Given the description of an element on the screen output the (x, y) to click on. 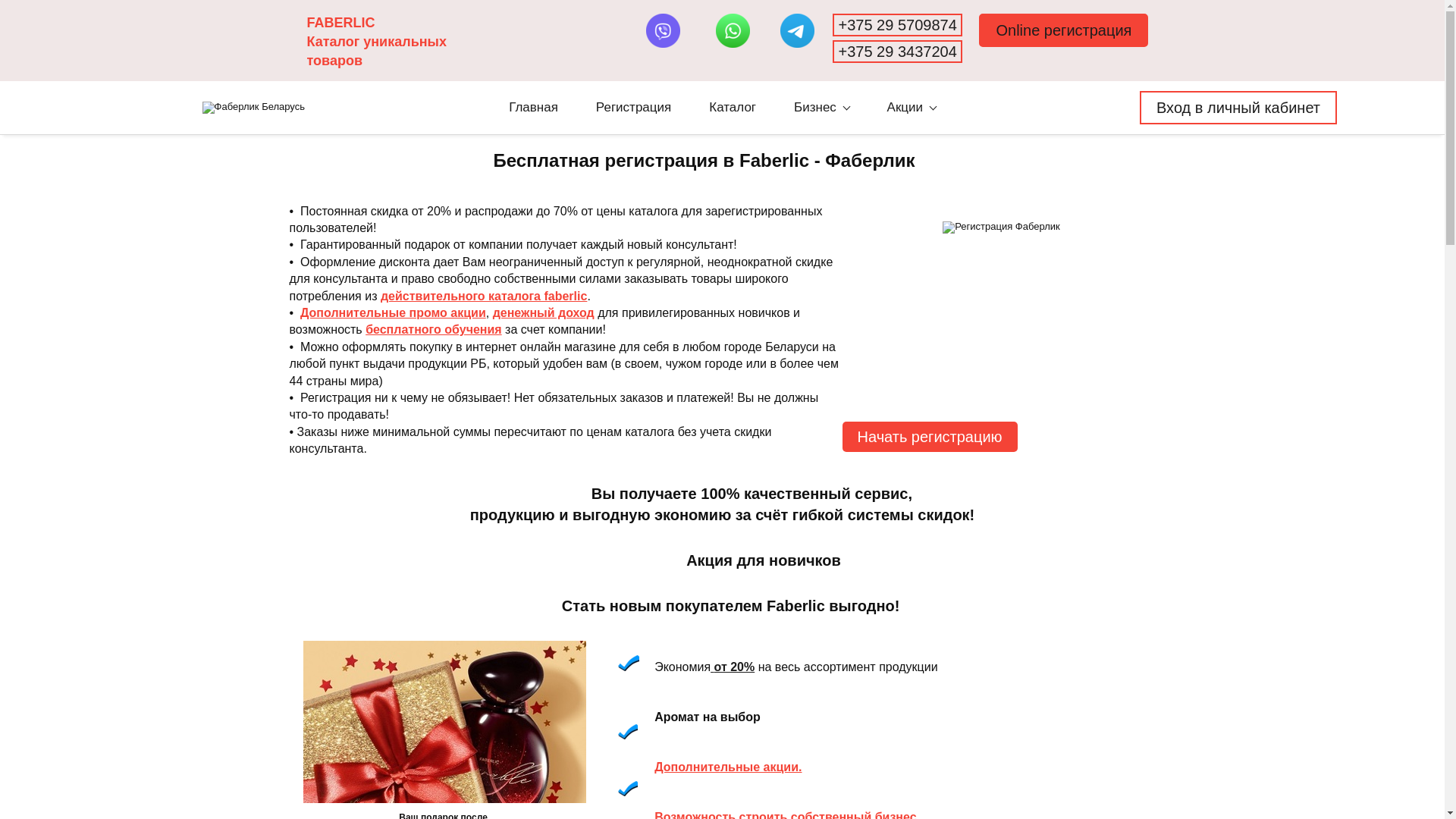
Viber Element type: hover (663, 30)
+375 29 5709874 Element type: text (896, 24)
WhatsApp Element type: hover (732, 30)
+375 29 3437204 Element type: text (896, 51)
Telegram Element type: hover (797, 30)
